Given the description of an element on the screen output the (x, y) to click on. 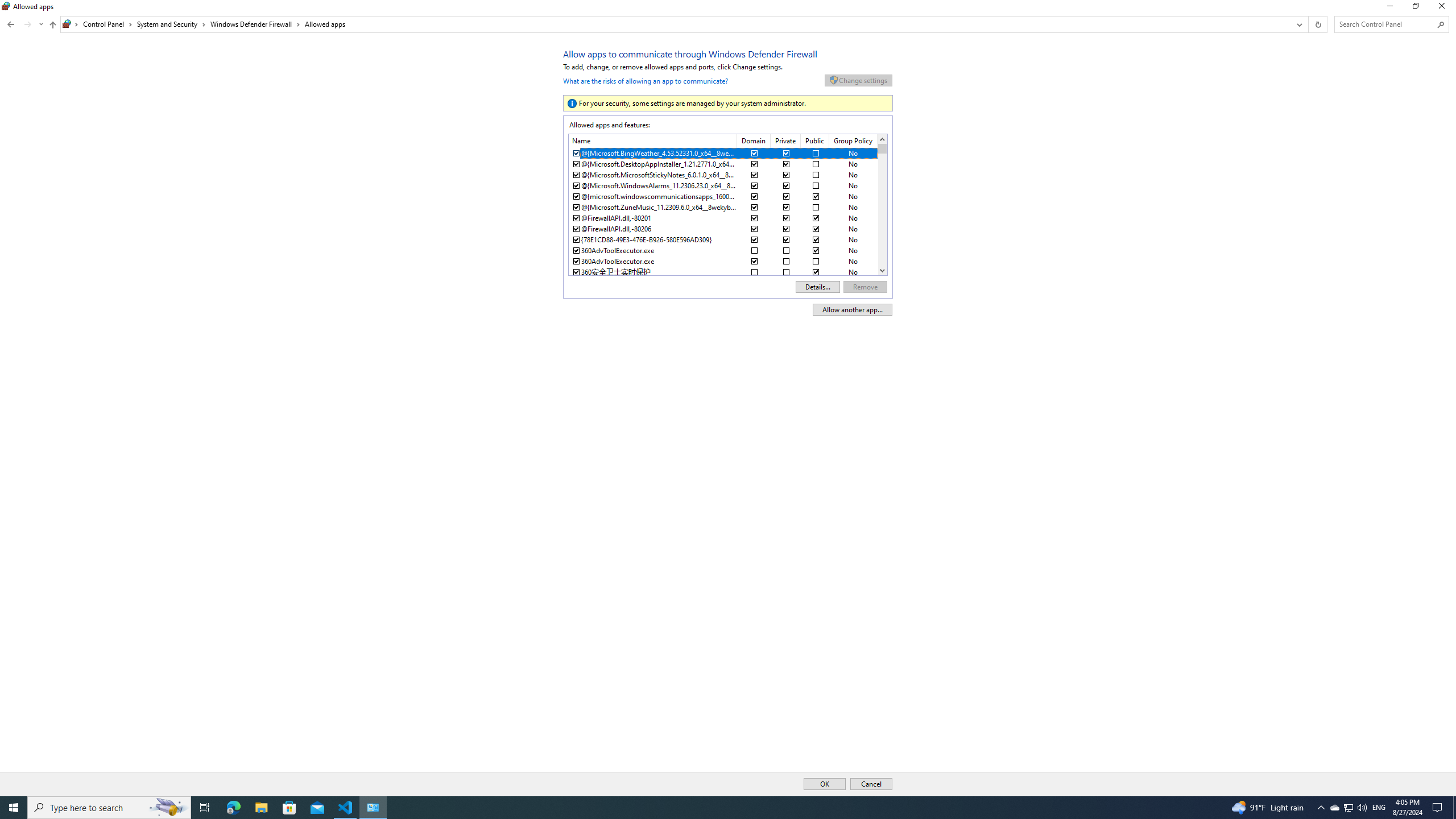
Restore (1415, 8)
Show desktop (1454, 807)
All locations (70, 23)
Details... (817, 286)
Action Center, No new notifications (1439, 807)
Search highlights icon opens search home window (167, 807)
System (6, 6)
Notification Chevron (1320, 807)
Recent locations (40, 23)
